Given the description of an element on the screen output the (x, y) to click on. 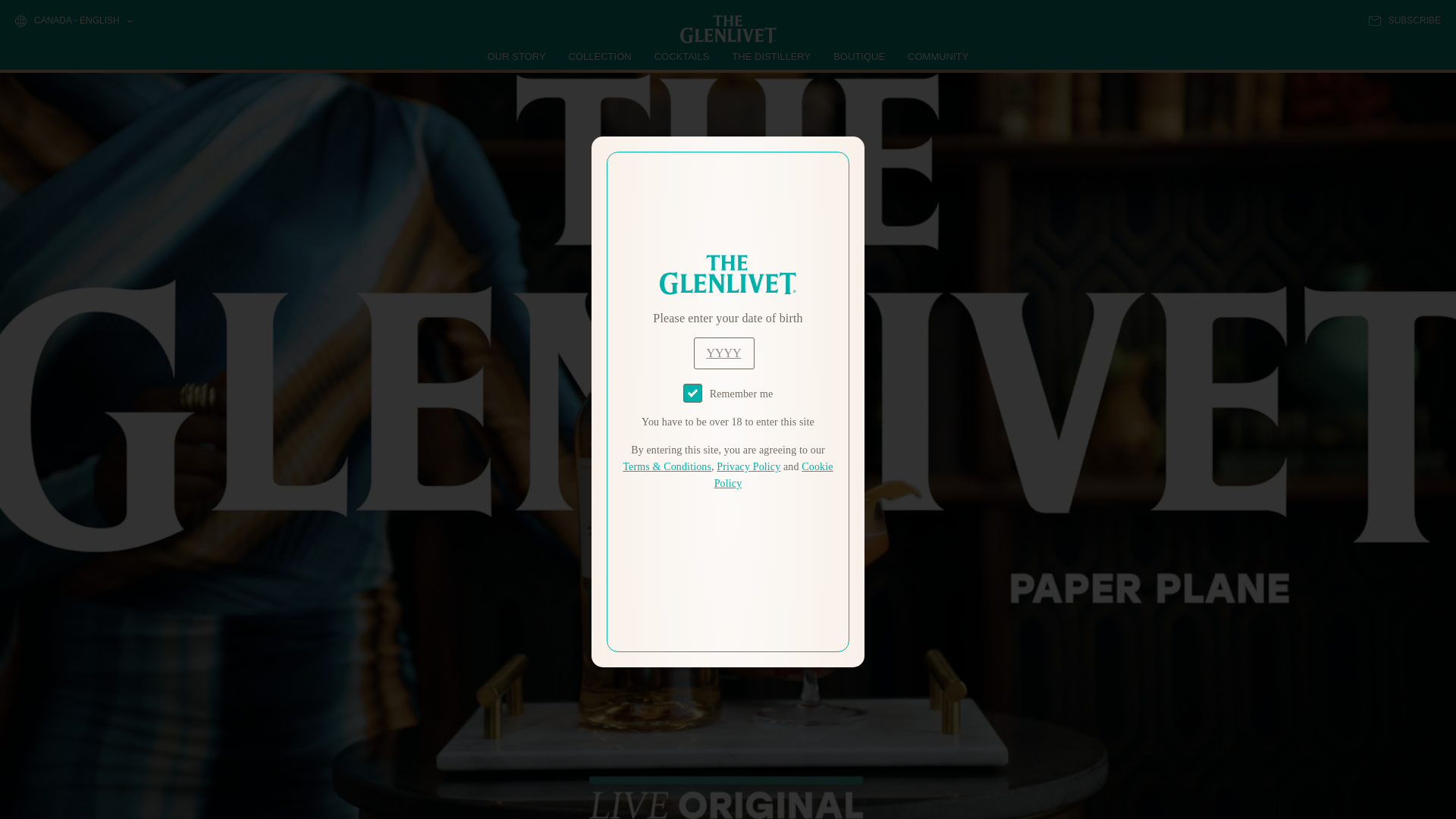
THE DISTILLERY (771, 56)
COCKTAILS (681, 56)
OUR STORY (516, 56)
COMMUNITY (937, 56)
SUBSCRIBE (1404, 20)
BOUTIQUE (858, 56)
year (723, 353)
Cookie Policy (773, 474)
COLLECTION (600, 56)
Privacy Policy (748, 466)
